Given the description of an element on the screen output the (x, y) to click on. 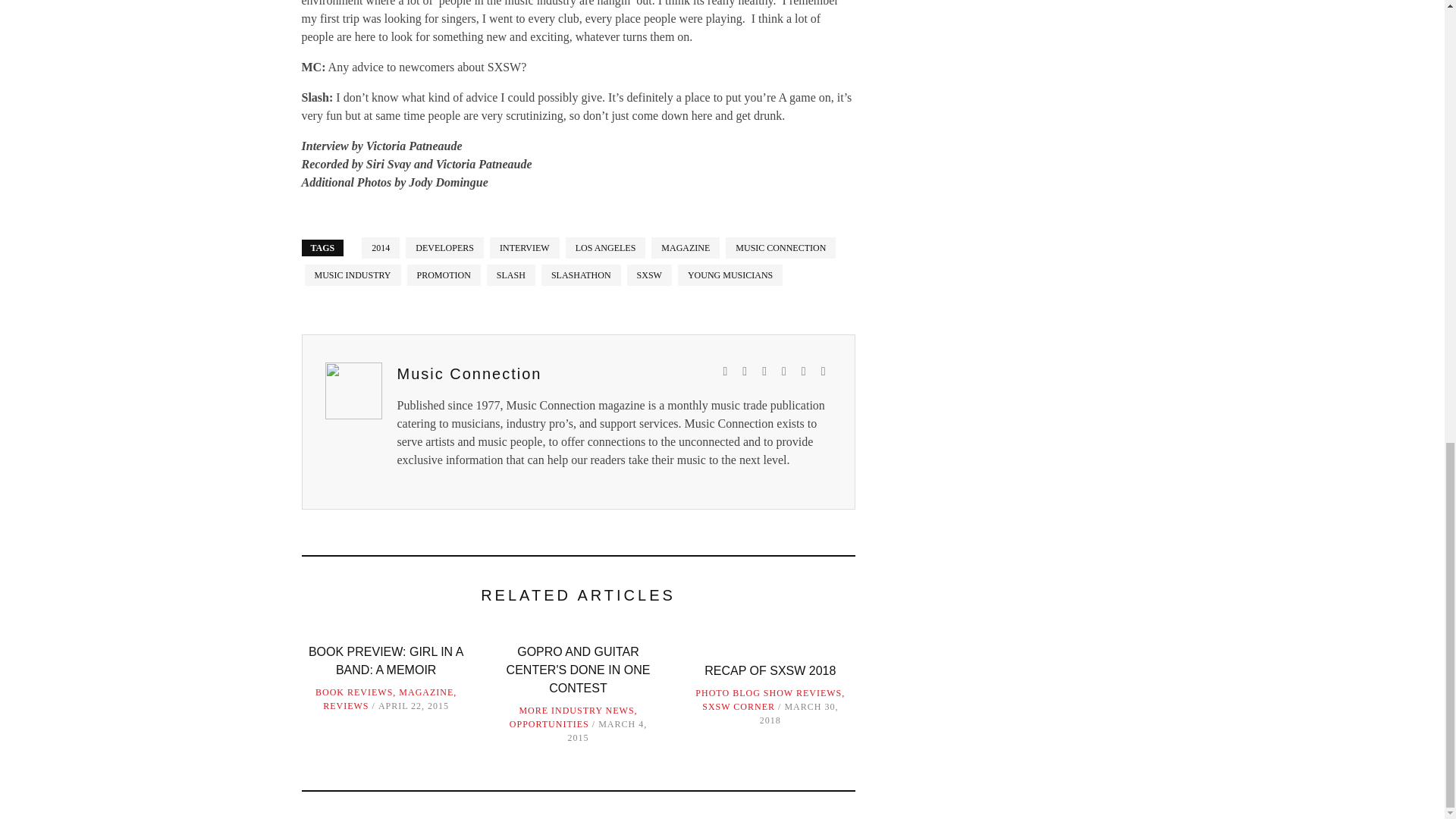
View all posts tagged 2014 (379, 246)
View all posts tagged slashathon (581, 274)
View all posts tagged sxsw (649, 274)
View all posts tagged magazine (684, 246)
View all posts tagged developers (444, 246)
View all posts tagged music connection (780, 246)
View all posts tagged music industry (352, 274)
View all posts tagged los angeles (606, 246)
View all posts tagged interview (524, 246)
View all posts tagged promotion (443, 274)
